Given the description of an element on the screen output the (x, y) to click on. 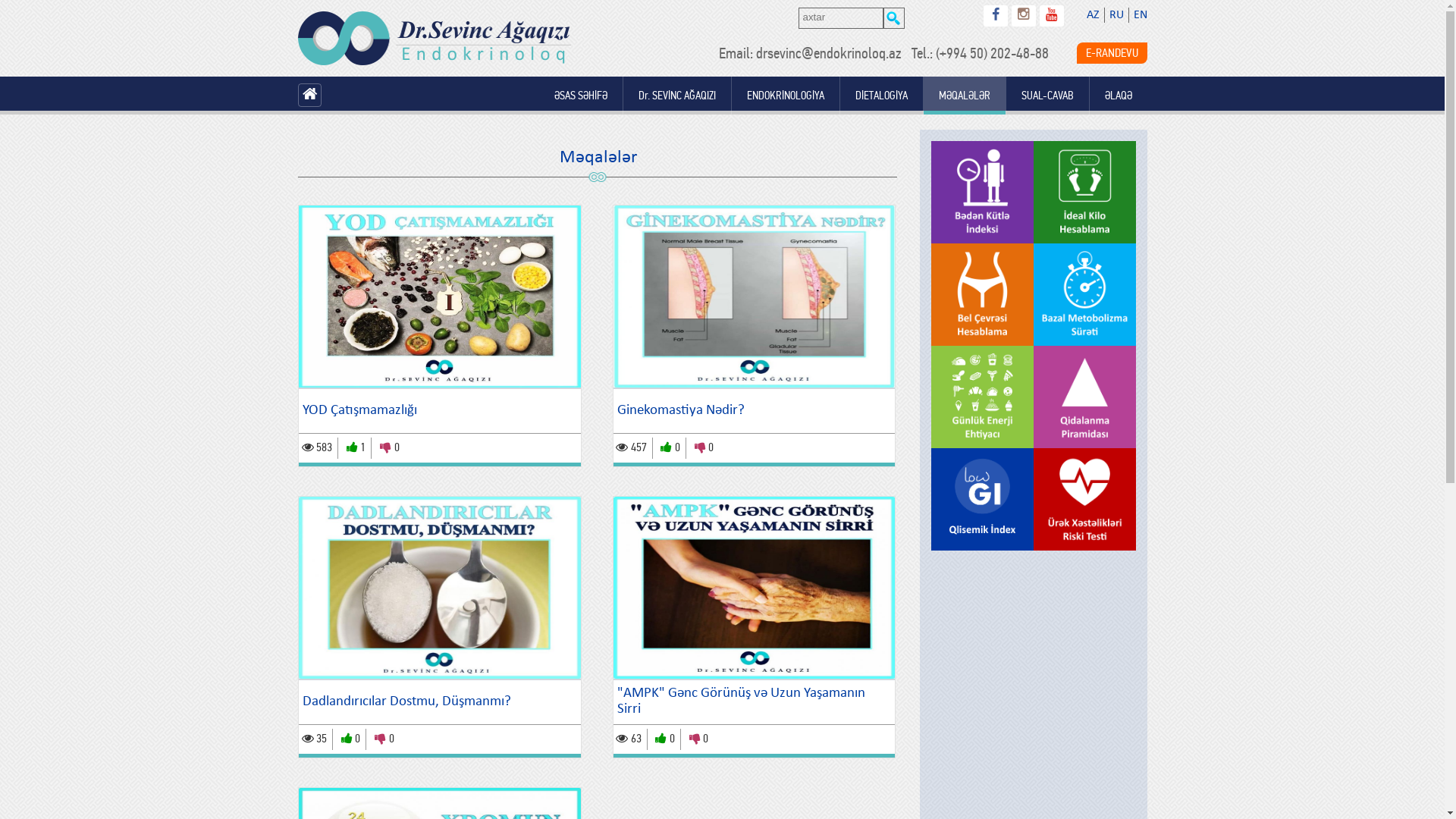
SUAL-CAVAB Element type: text (1046, 95)
RU Element type: text (1115, 15)
EN Element type: text (1139, 15)
Instagram Element type: hover (1023, 15)
E-RANDEVU Element type: text (1111, 52)
Youtube Element type: hover (1050, 15)
Facebook Element type: hover (994, 15)
AZ Element type: text (1091, 15)
drsevinc@endokrinoloq.az Element type: text (827, 53)
